Given the description of an element on the screen output the (x, y) to click on. 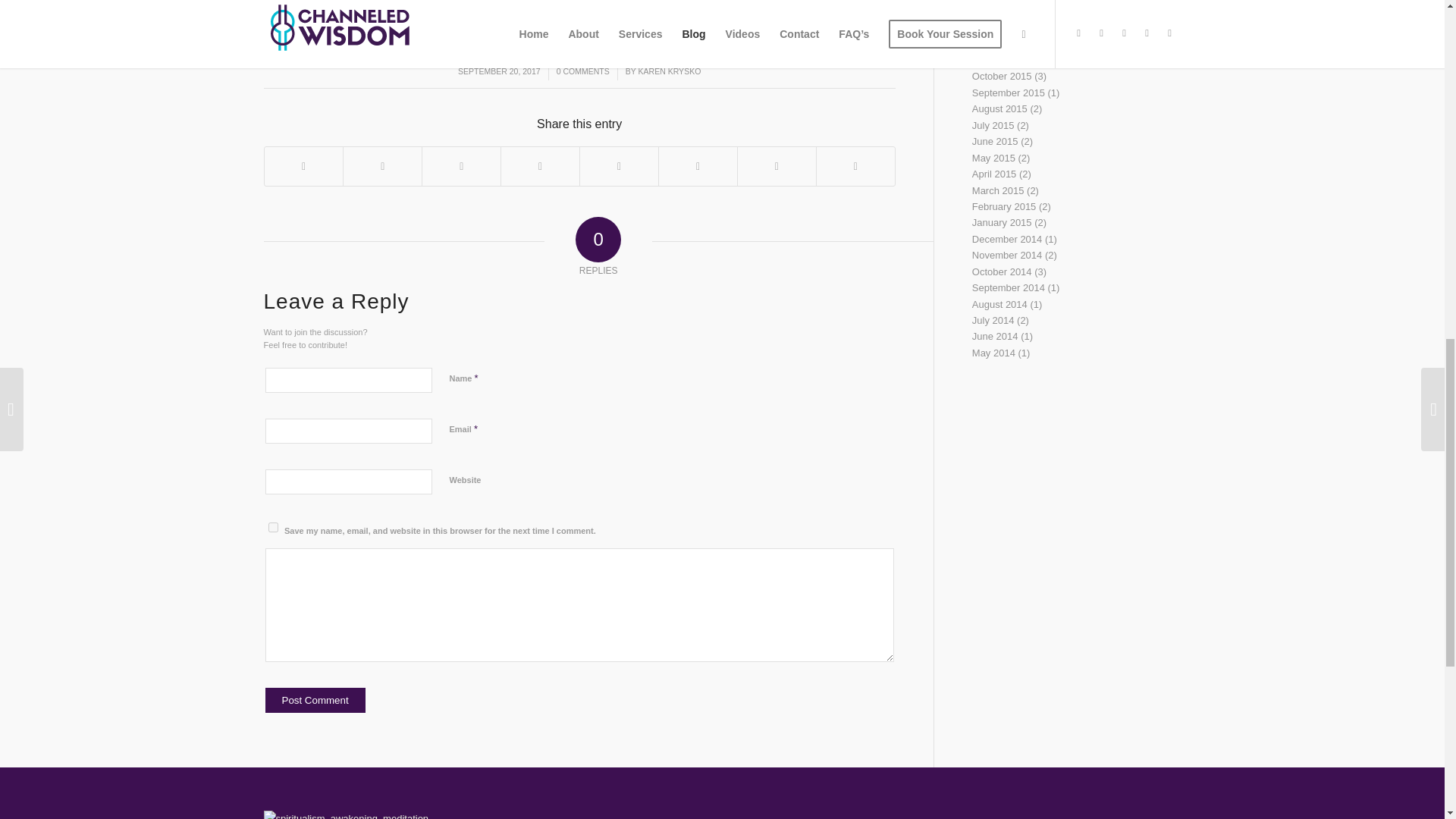
Post Comment (314, 699)
yes (272, 527)
KAREN KRYSKO (670, 71)
0 COMMENTS (583, 71)
Posts by Karen Krysko (670, 71)
Post Comment (314, 699)
